Given the description of an element on the screen output the (x, y) to click on. 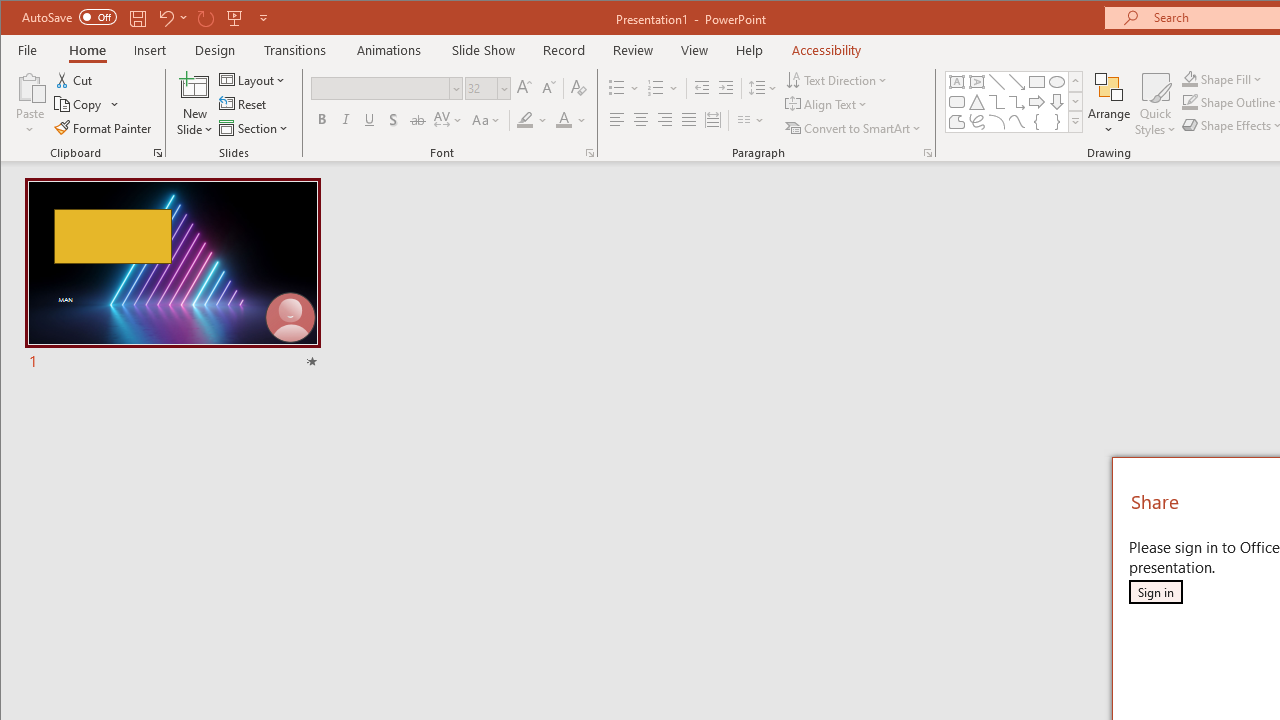
Shape Fill (1222, 78)
Columns (751, 119)
Italic (346, 119)
Isosceles Triangle (976, 102)
Arrow: Down (1057, 102)
Align Text (828, 103)
Line Arrow (1016, 82)
Section (255, 127)
Arrow: Right (1036, 102)
